Given the description of an element on the screen output the (x, y) to click on. 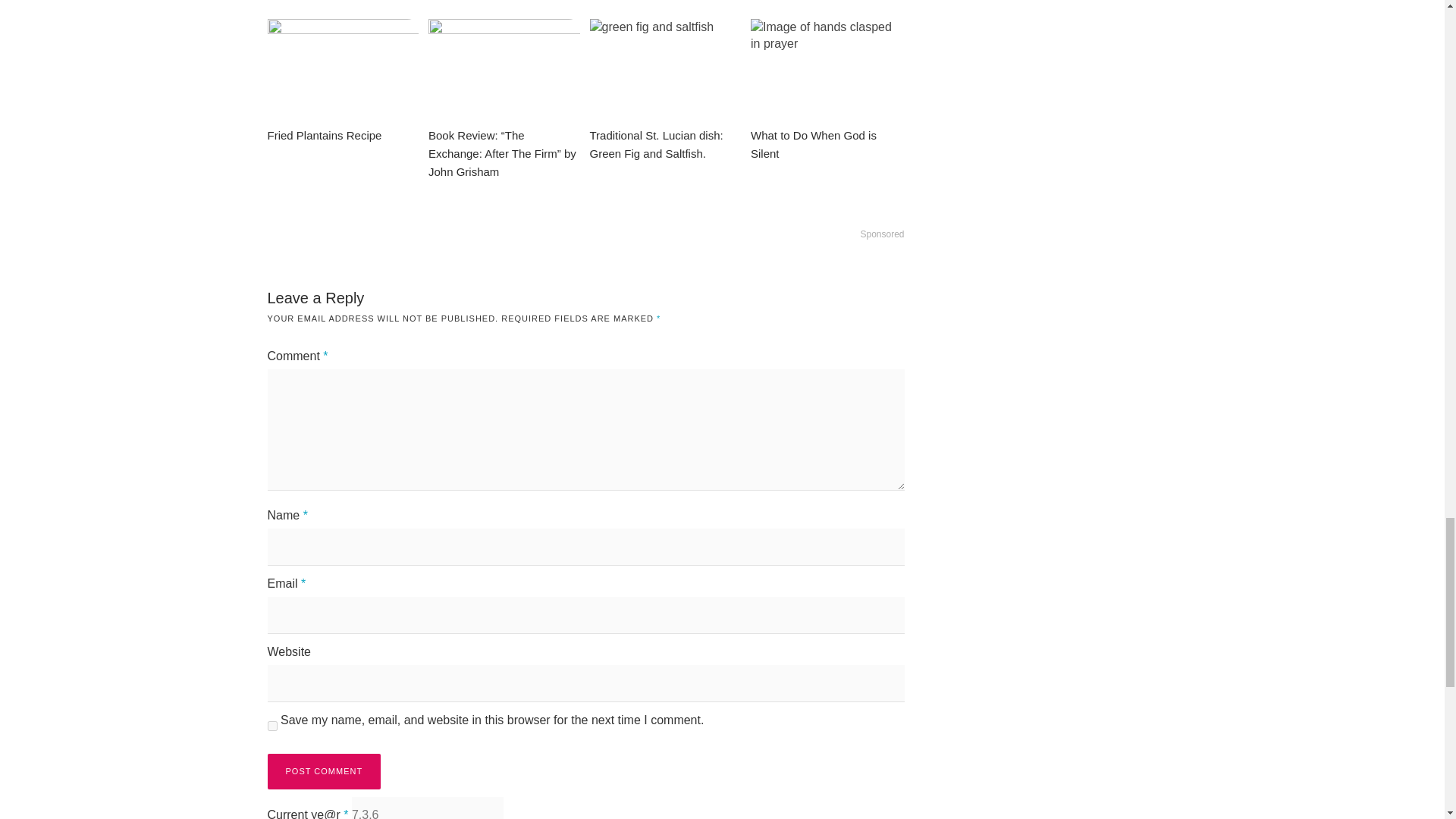
yes (271, 726)
7.3.6 (427, 807)
Post Comment (323, 771)
